Given the description of an element on the screen output the (x, y) to click on. 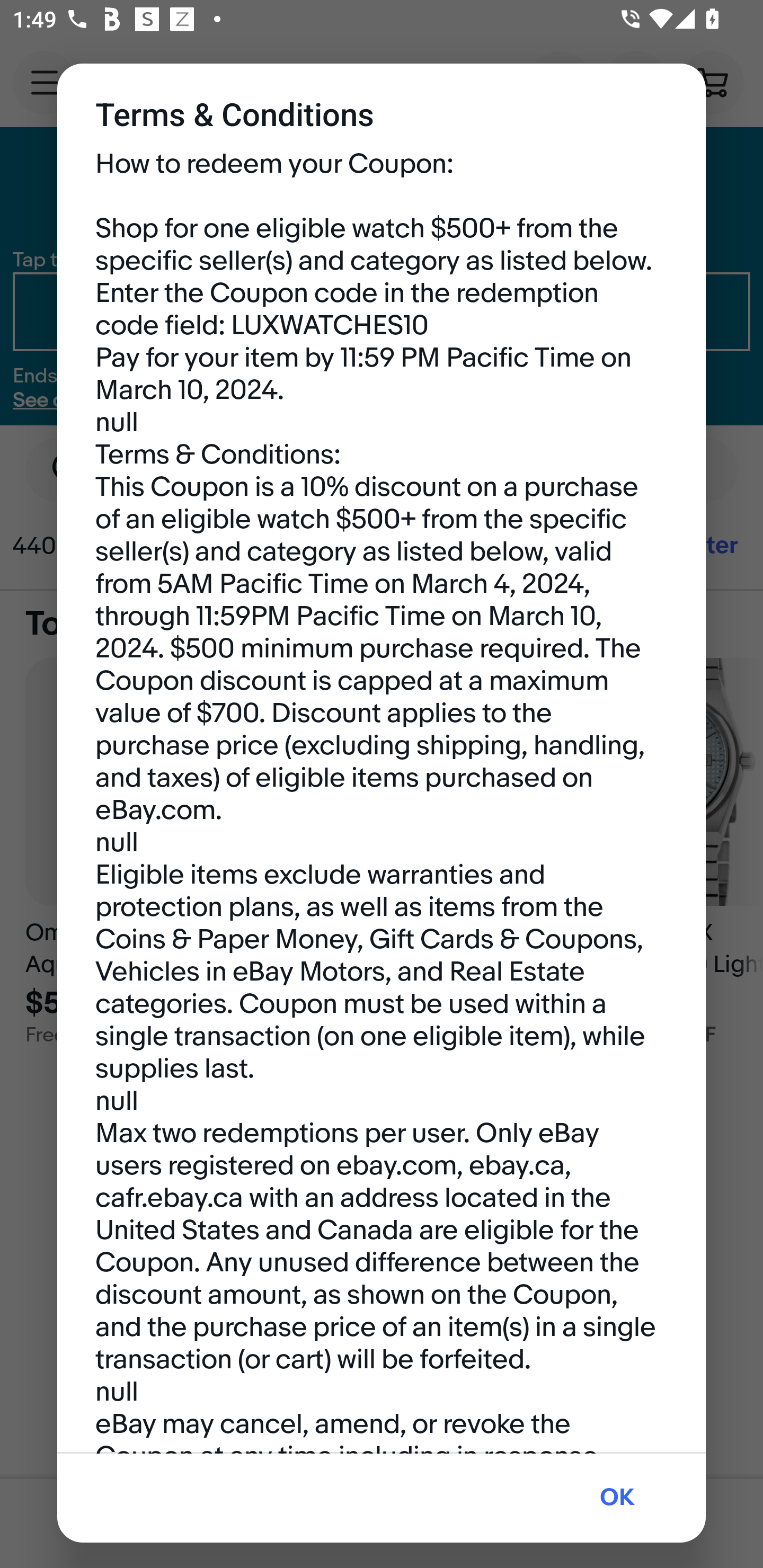
OK (616, 1497)
